Given the description of an element on the screen output the (x, y) to click on. 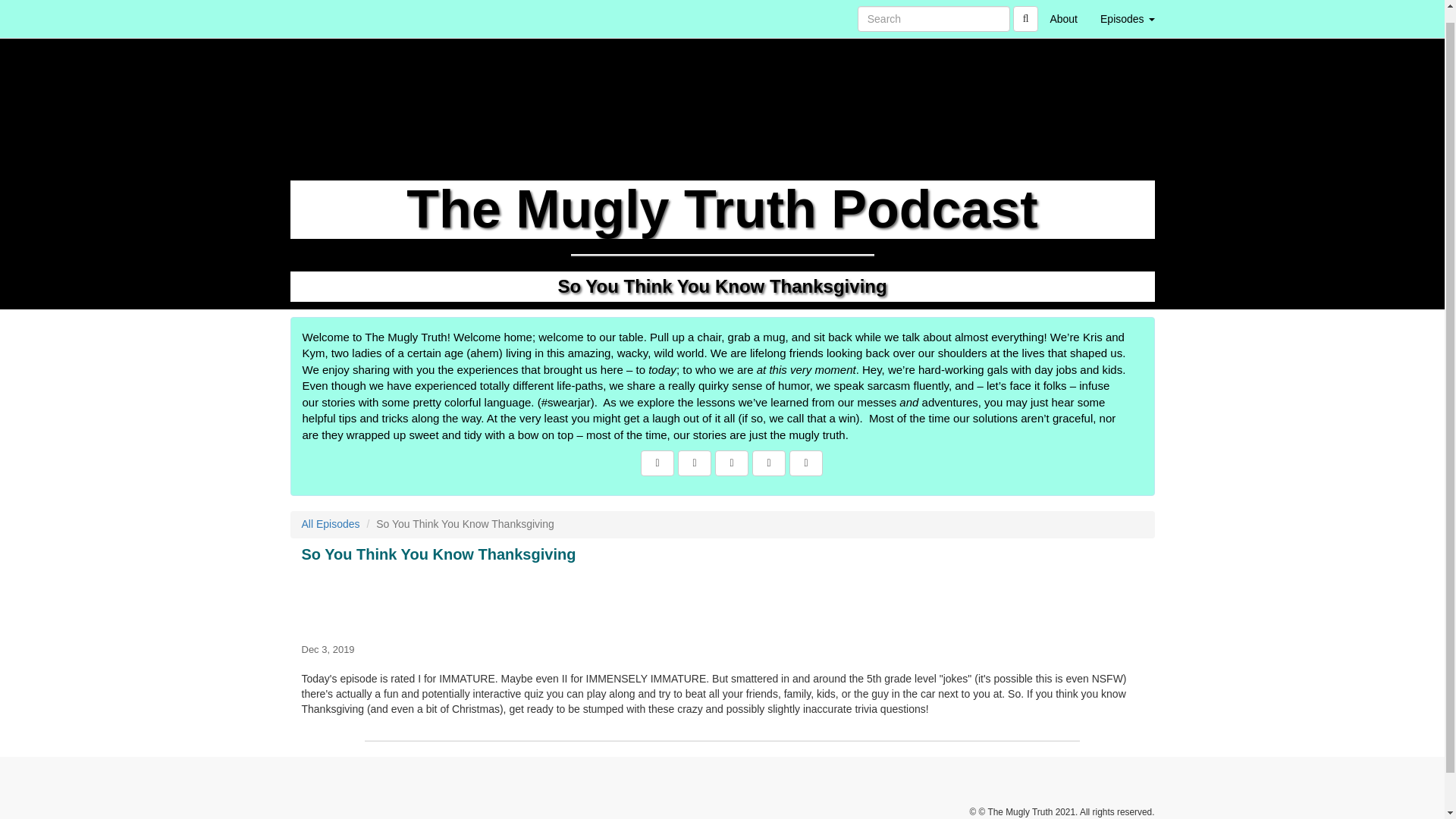
Visit Us on Facebook (657, 462)
Home Page (320, 12)
About (1063, 12)
So You Think You Know Thanksgiving (721, 600)
Episodes (1127, 12)
Listen on Apple Podcasts (769, 462)
Listen on Spotify (805, 462)
Subscribe to RSS Feed (731, 462)
Visit Us on Twitter (694, 462)
